Given the description of an element on the screen output the (x, y) to click on. 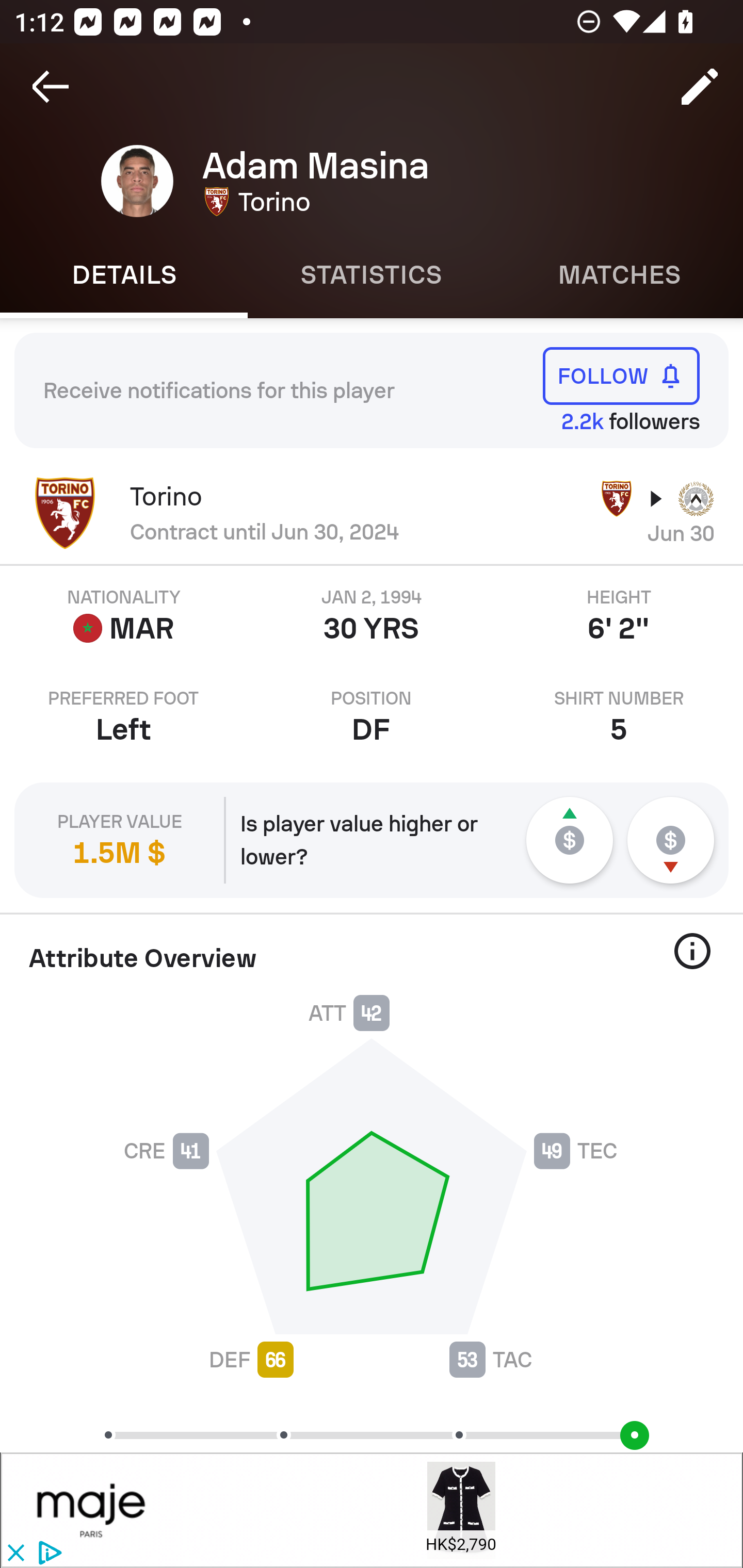
Navigate up (50, 86)
Edit (699, 86)
Statistics STATISTICS (371, 275)
Matches MATCHES (619, 275)
FOLLOW (621, 375)
Torino Contract until Jun 30, 2024 Jun 30 (371, 513)
NATIONALITY MAR (123, 616)
POSITION DF (371, 717)
   (91, 1509)
 HK$2,790       HK$2,790 (461, 1510)
close_button (14, 1553)
privacy_small (47, 1553)
